Given the description of an element on the screen output the (x, y) to click on. 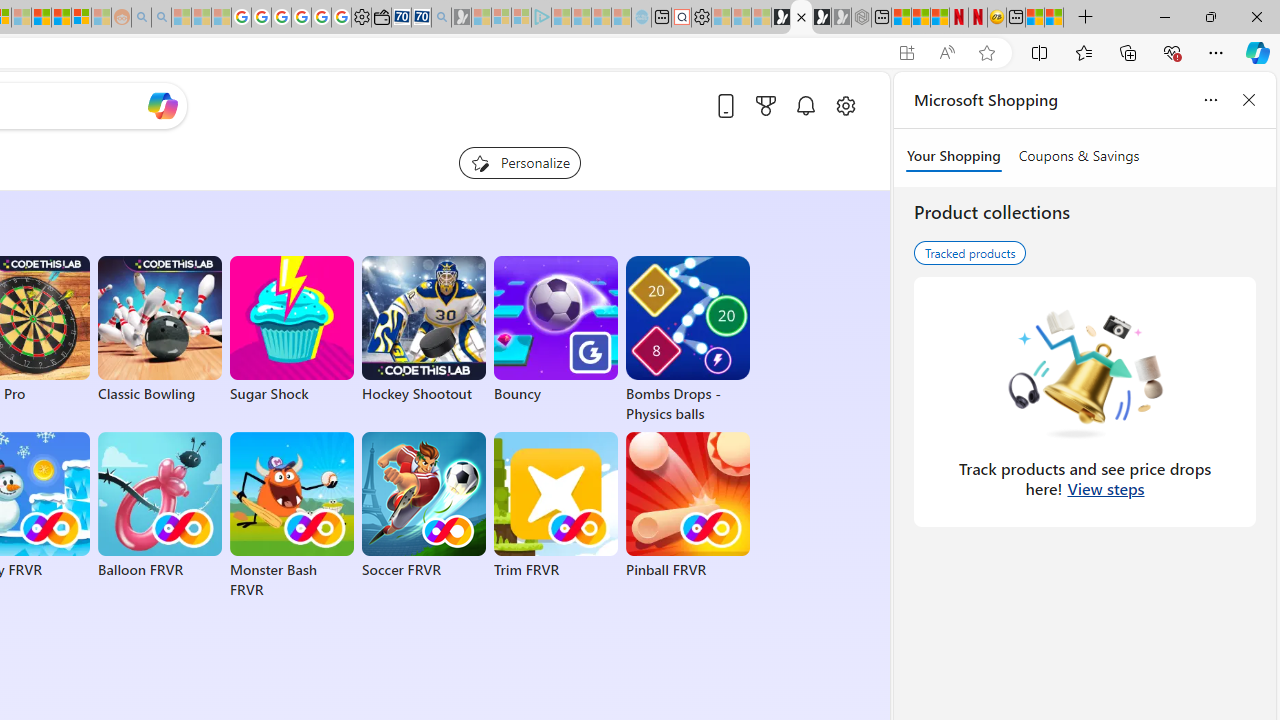
Bouncy (556, 329)
Monster Bash FRVR (292, 515)
Expert Portfolios (41, 17)
